Given the description of an element on the screen output the (x, y) to click on. 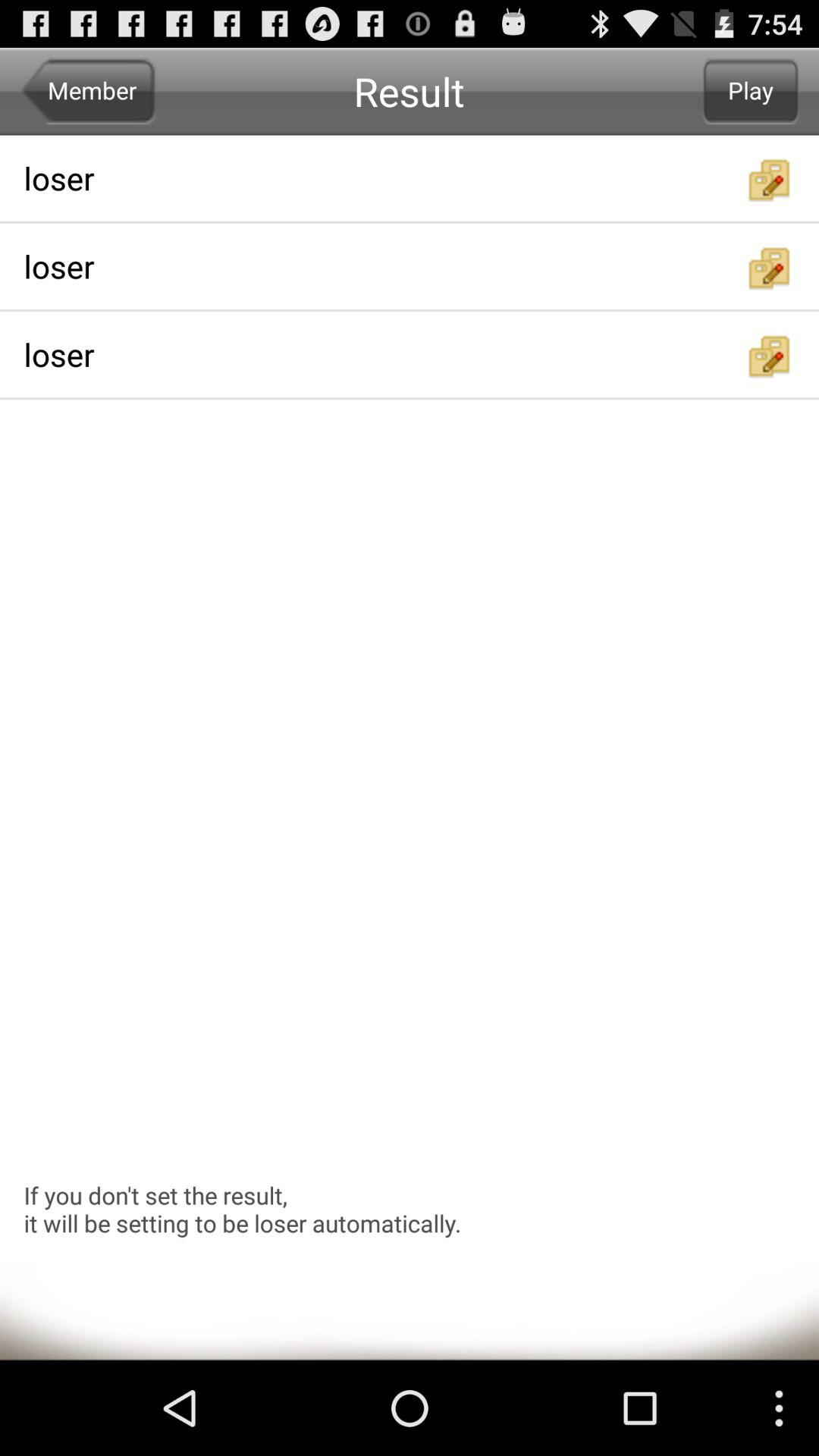
open item next to the result (87, 91)
